Given the description of an element on the screen output the (x, y) to click on. 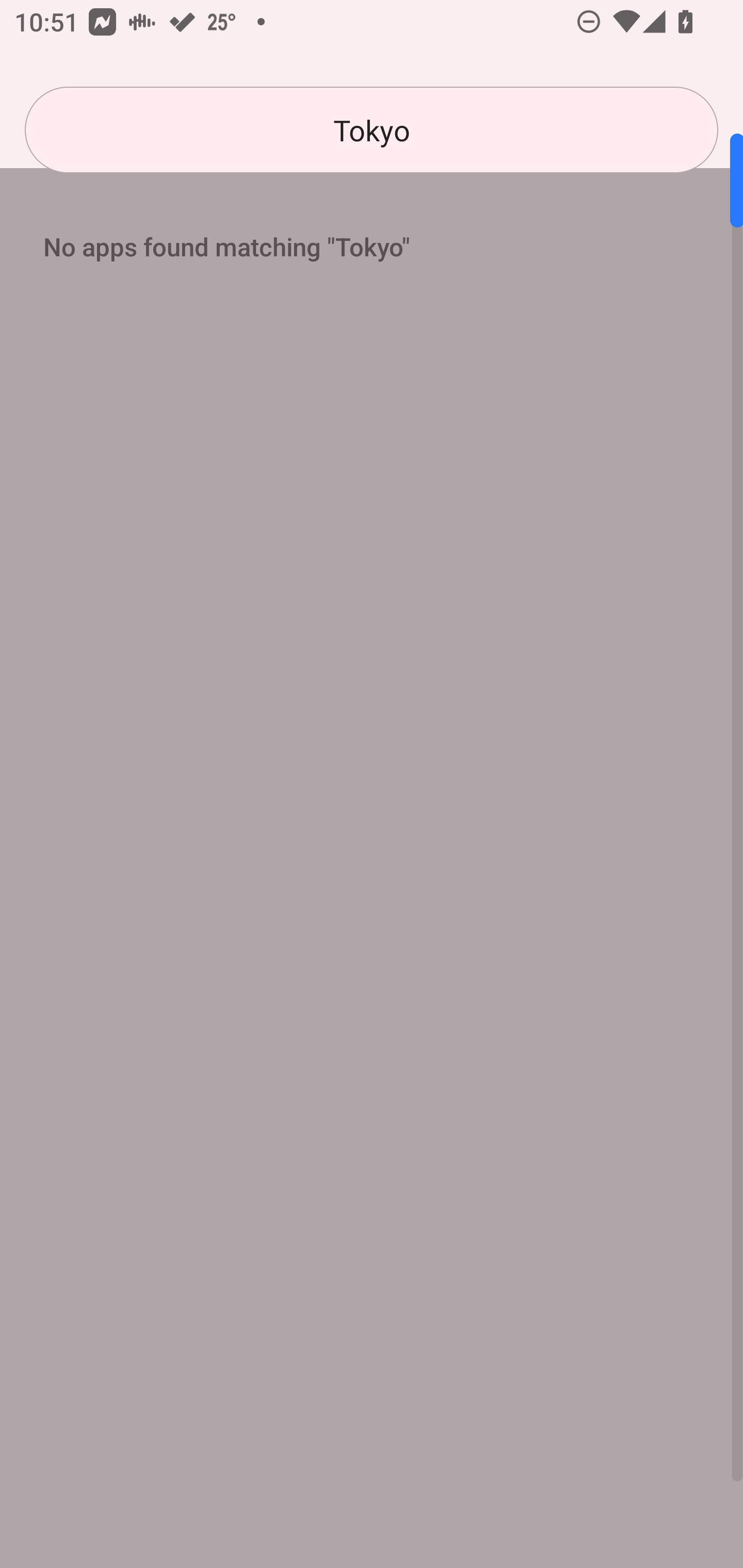
Tokyo (371, 130)
